Given the description of an element on the screen output the (x, y) to click on. 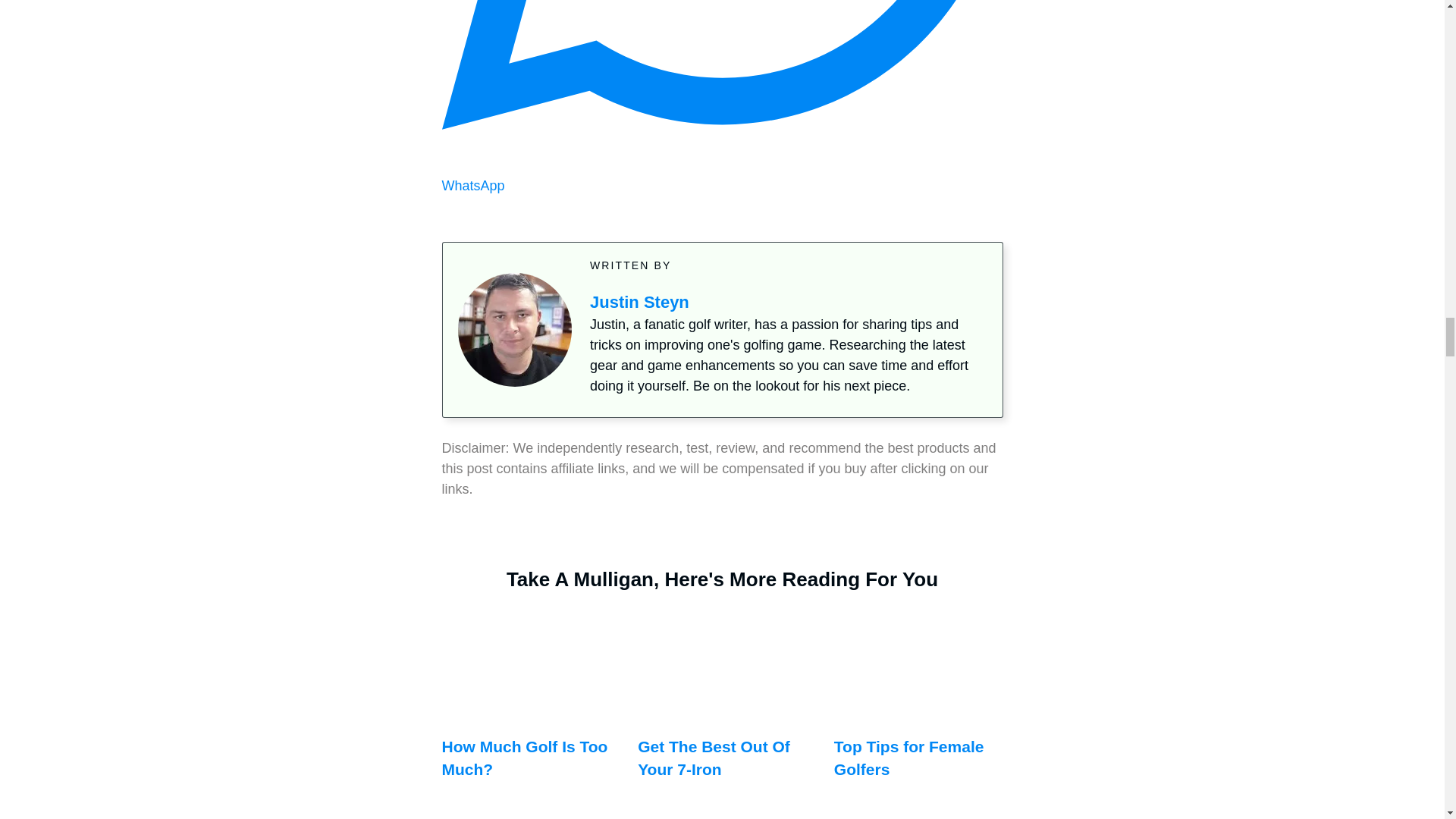
WhatsApp (722, 175)
Get The Best Out Of Your 7-Iron (721, 711)
Justin Steyn (638, 302)
Top Tips for Female Golfers (909, 757)
How Much Golf Is Too Much? (525, 711)
Get The Best Out Of Your 7-Iron (713, 757)
How Much Golf Is Too Much? (524, 757)
Top Tips for Female Golfers (918, 711)
